Given the description of an element on the screen output the (x, y) to click on. 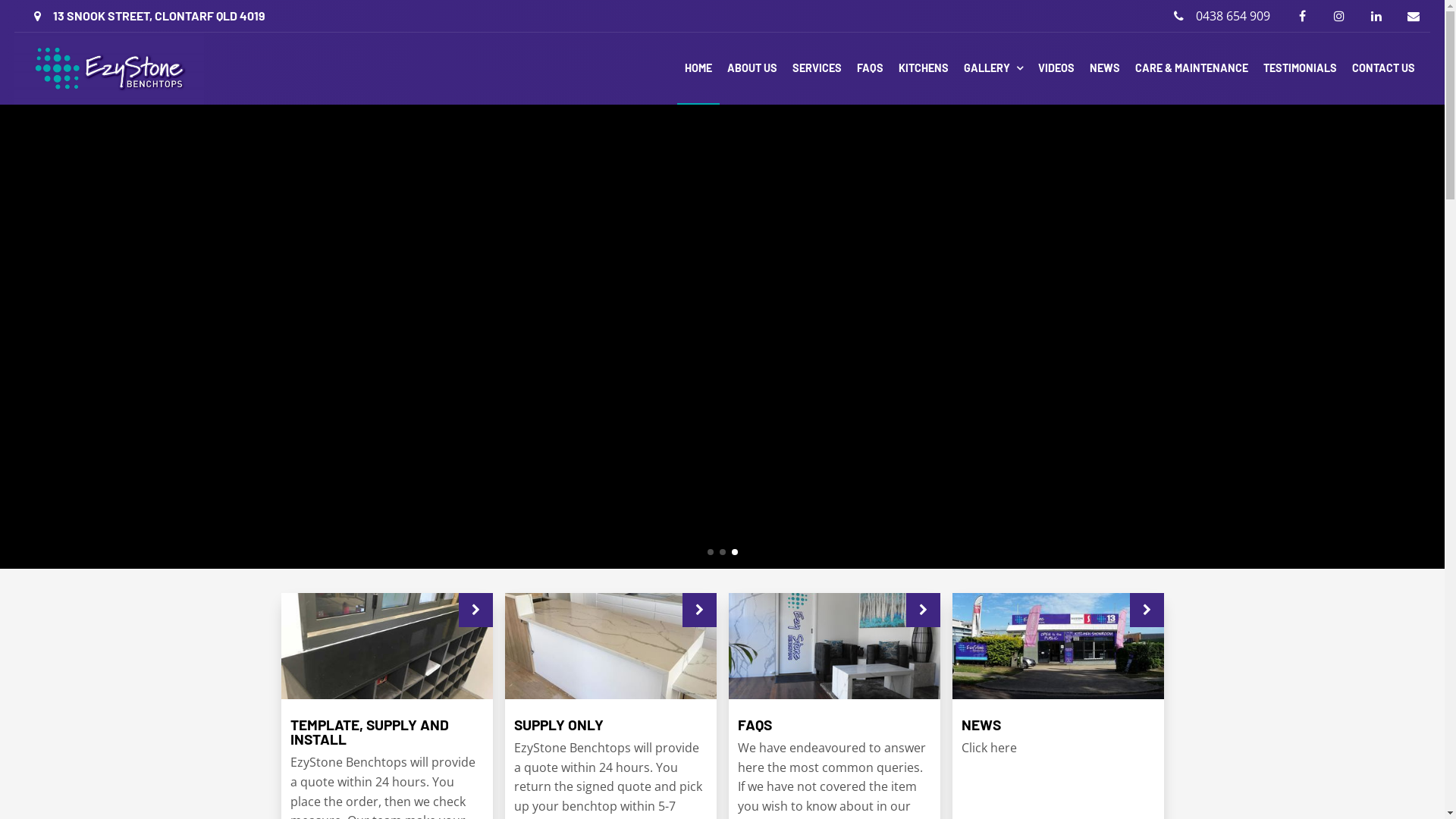
HOME Element type: text (698, 68)
NEWS Element type: text (1104, 68)
13 SNOOK STREET, CLONTARF QLD 4019 Element type: text (149, 15)
ABOUT US Element type: text (751, 68)
SERVICES Element type: text (816, 68)
CARE & MAINTENANCE Element type: text (1191, 68)
CONTACT US Element type: text (1383, 68)
KITCHENS Element type: text (923, 68)
TESTIMONIALS Element type: text (1299, 68)
VIDEOS Element type: text (1056, 68)
GALLERY Element type: text (993, 68)
FAQS Element type: text (870, 68)
